Given the description of an element on the screen output the (x, y) to click on. 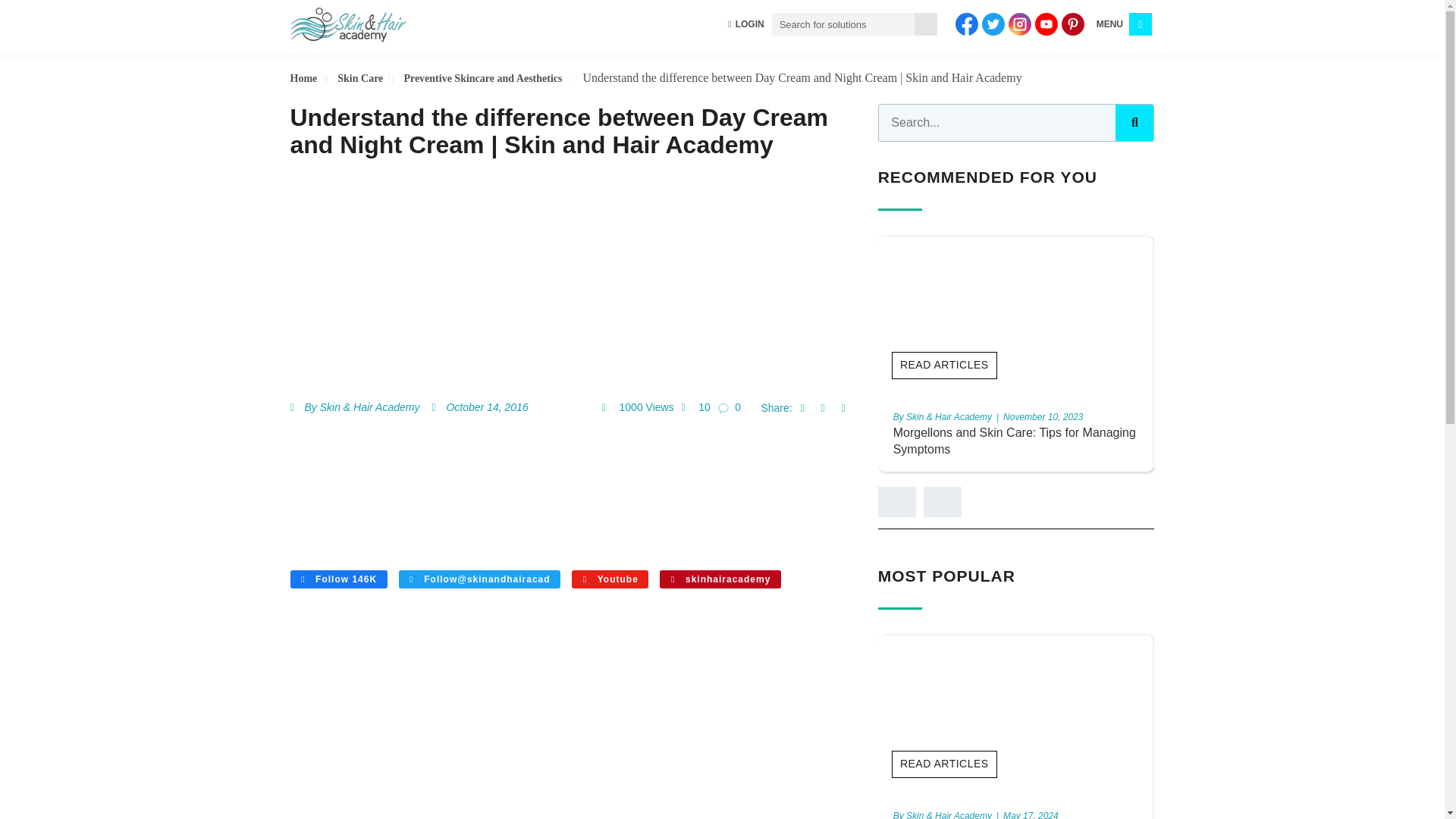
Smooth Skin Secrets: Managing Keratosis Pilaris with Care (1282, 440)
LOGIN (745, 24)
READ ARTICLES (1221, 365)
Morgellons and Skin Care: Tips for Managing Symptoms (1014, 440)
Preventive Skincare and Aesthetics (491, 78)
Morgellons and Skin Care: Tips for Managing Symptoms (1014, 440)
Youtube (609, 579)
Home (311, 78)
Skin Care (368, 78)
Follow 146K (338, 579)
MENU (1109, 23)
READ ARTICLES (944, 365)
Smooth Skin Secrets: Managing Keratosis Pilaris with Care (1282, 440)
skinhairacademy (719, 579)
